Given the description of an element on the screen output the (x, y) to click on. 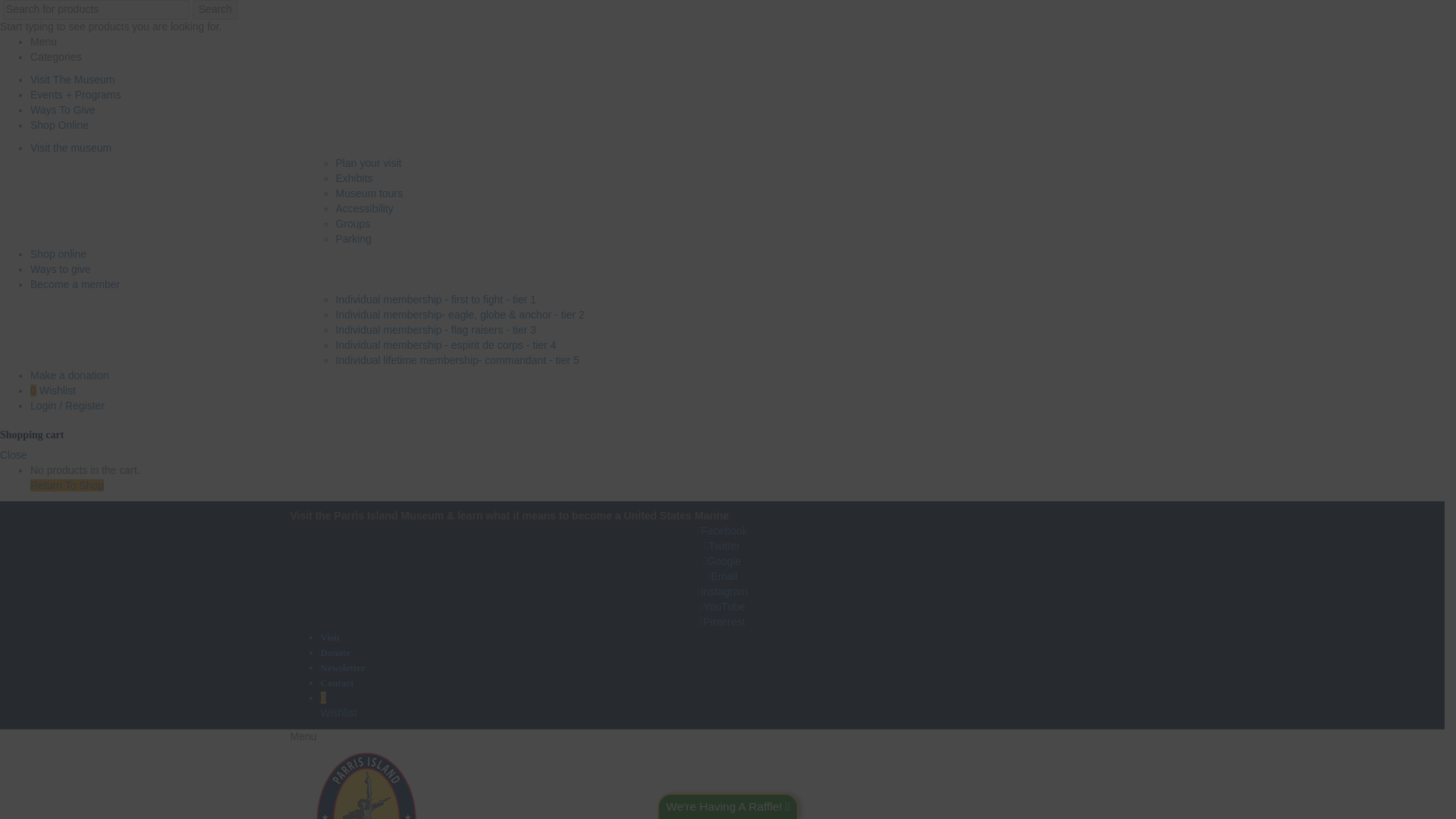
Parking (352, 238)
0 Wishlist (52, 390)
Shop online (57, 254)
Visit the museum (71, 147)
Groups (351, 223)
Individual membership - flag raisers - tier 3 (434, 329)
Individual lifetime membership- commandant - tier 5 (456, 359)
Return To Shop (66, 485)
Visit The Museum (72, 79)
Accessibility (363, 208)
Google (722, 561)
Search (722, 478)
Ways To Give (215, 9)
Pinterest (63, 110)
